Given the description of an element on the screen output the (x, y) to click on. 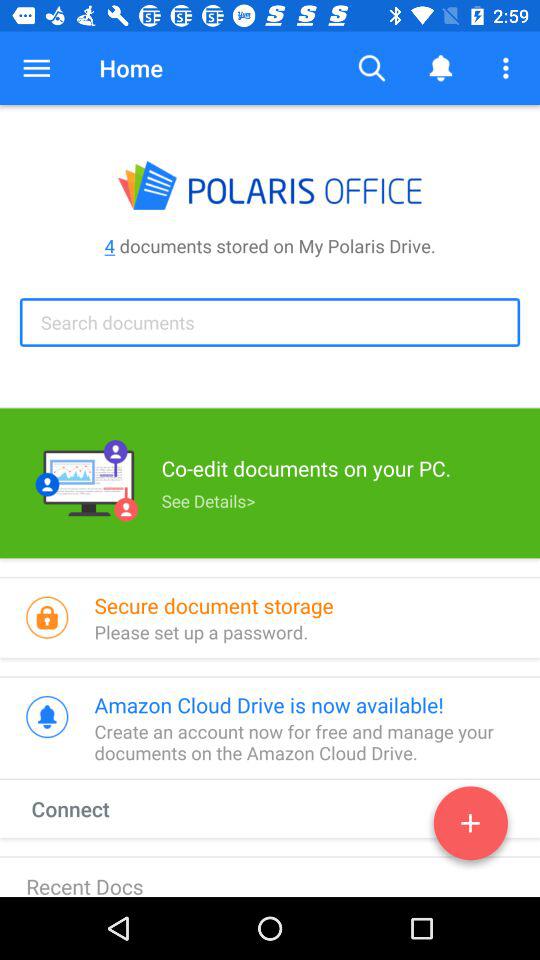
choose the icon at the bottom right corner (470, 827)
